Given the description of an element on the screen output the (x, y) to click on. 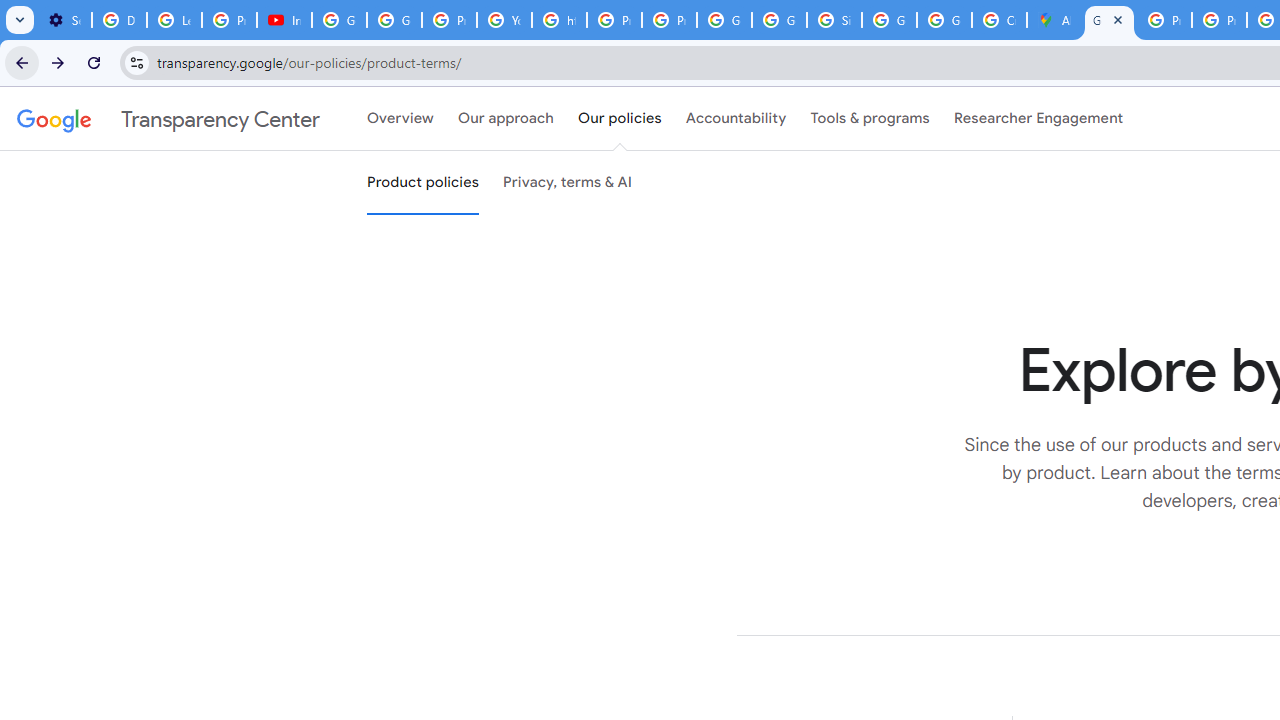
Our approach (506, 119)
Accountability (735, 119)
Our policies (619, 119)
Overview (399, 119)
Learn how to find your photos - Google Photos Help (174, 20)
Introduction | Google Privacy Policy - YouTube (284, 20)
Create your Google Account (998, 20)
